Given the description of an element on the screen output the (x, y) to click on. 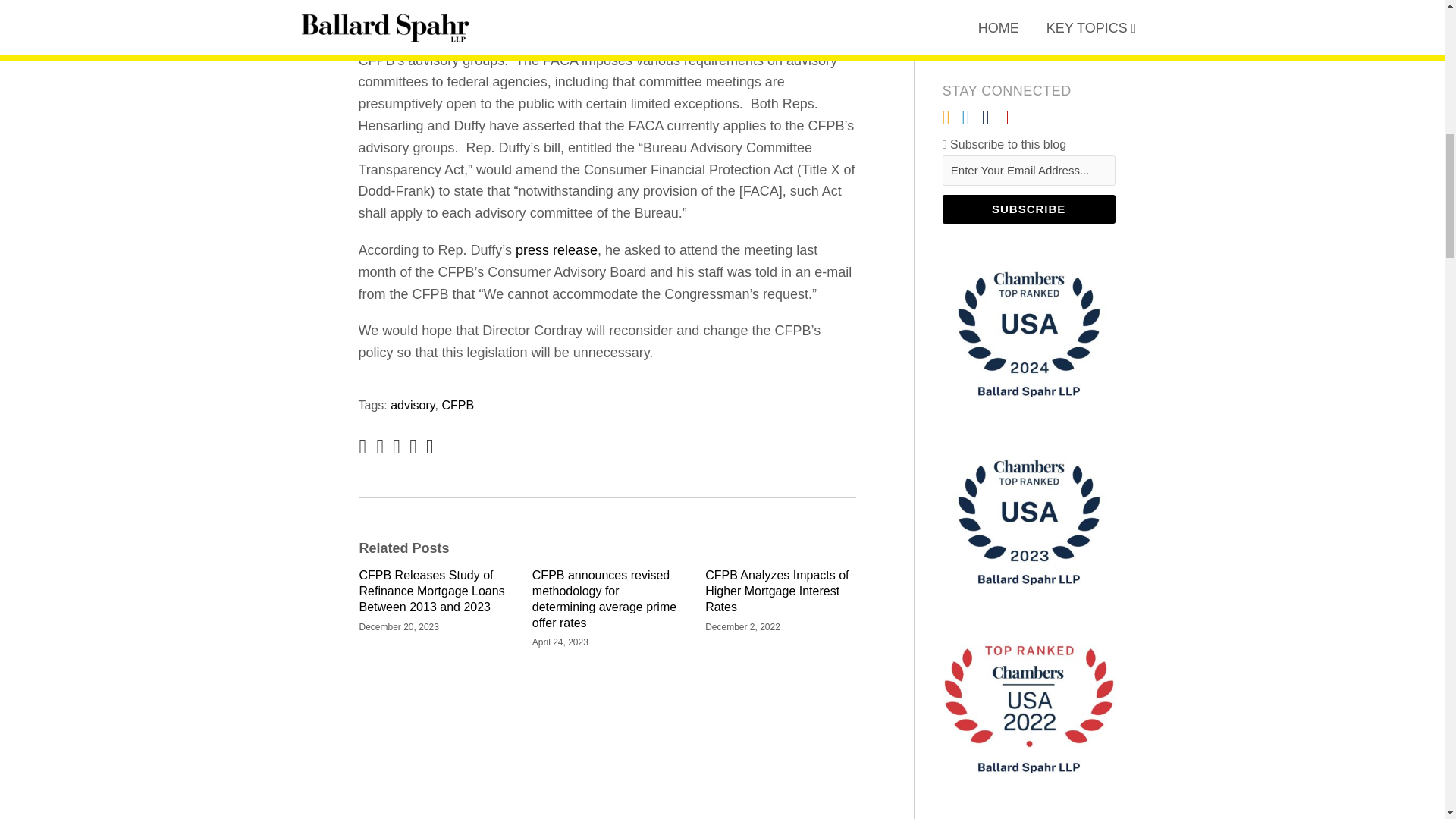
press release (555, 249)
press release (555, 249)
H.R. 4262 (772, 16)
HR 4262 (772, 16)
CFPB Analyzes Impacts of Higher Mortgage Interest Rates (780, 591)
Subscribe (1028, 208)
advisory (411, 404)
CFPB (457, 404)
Subscribe (1028, 208)
